Given the description of an element on the screen output the (x, y) to click on. 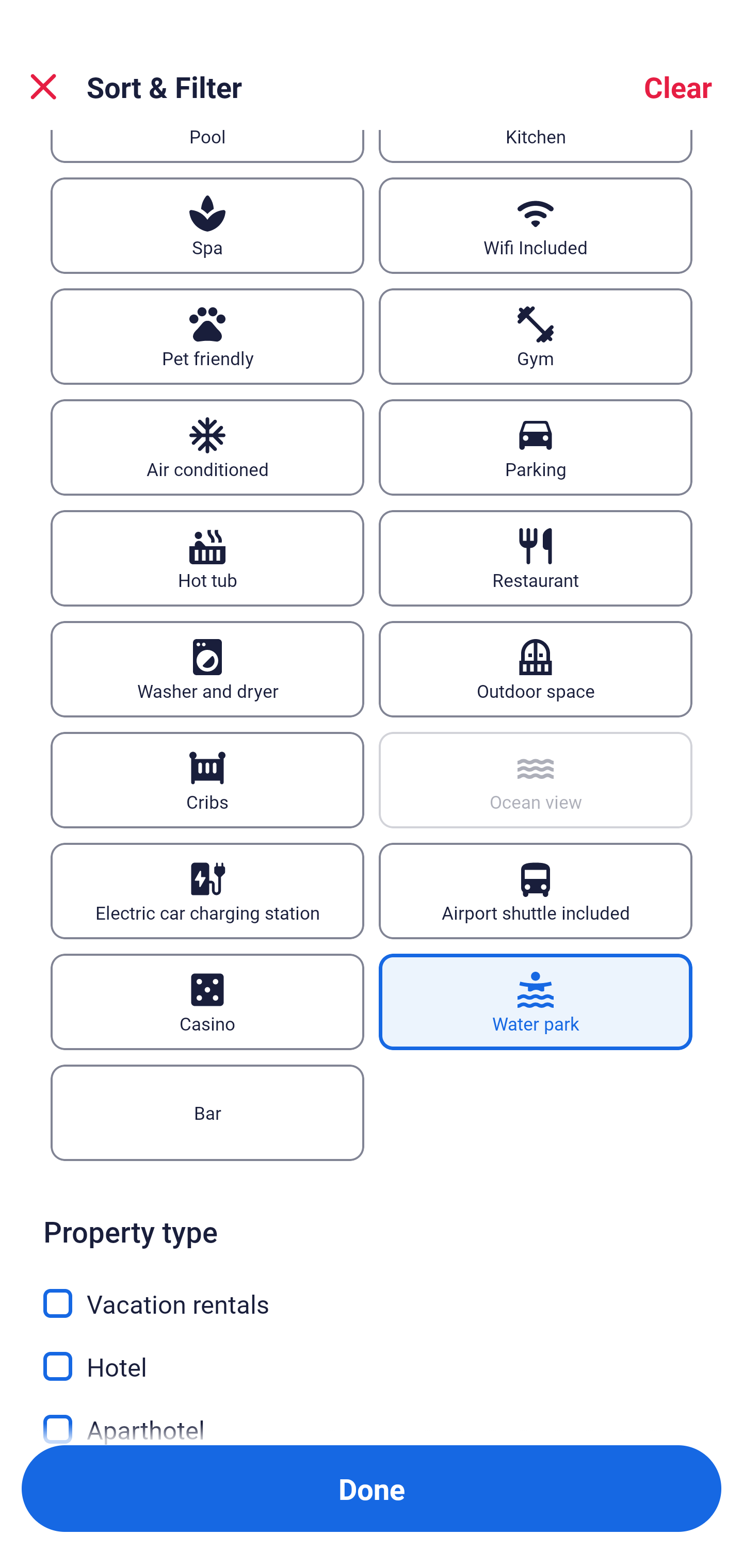
Close Sort and Filter (43, 86)
Clear (677, 86)
Spa (207, 225)
Wifi Included (535, 225)
Pet friendly (207, 336)
Gym (535, 336)
Air conditioned (207, 447)
Parking (535, 447)
Hot tub (207, 557)
Restaurant (535, 557)
Washer and dryer (207, 669)
Outdoor space (535, 669)
Cribs (207, 779)
Ocean view (535, 779)
Electric car charging station (207, 891)
Airport shuttle included (535, 891)
Casino (207, 1001)
Water park (535, 1001)
Bar (207, 1112)
Vacation rentals, Vacation rentals (371, 1291)
Hotel, Hotel (371, 1354)
Aparthotel, Aparthotel (371, 1415)
Apply and close Sort and Filter Done (371, 1488)
